Given the description of an element on the screen output the (x, y) to click on. 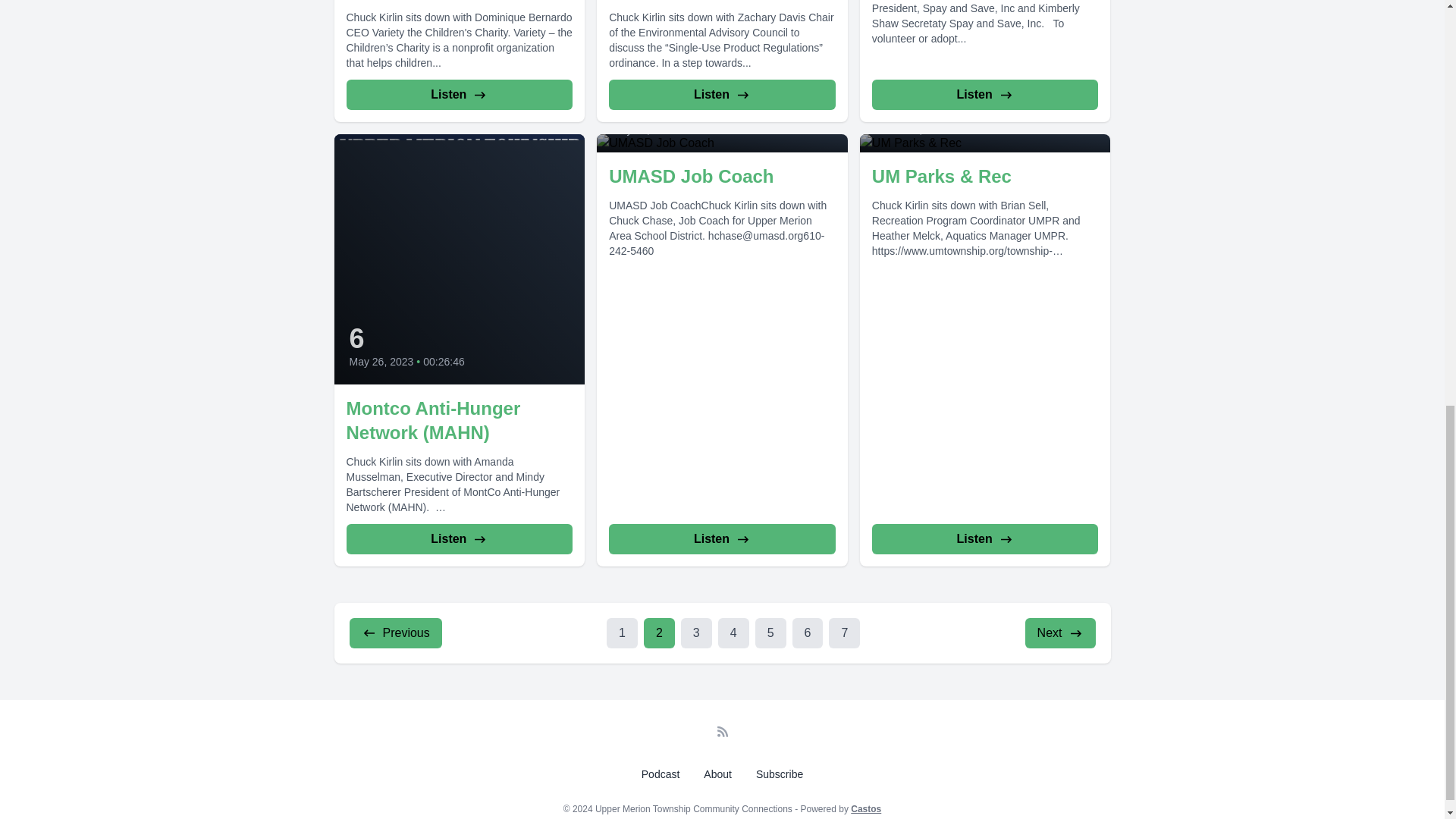
7 (844, 633)
Castos (865, 808)
1 (622, 633)
Powered by Castos (865, 808)
Subscribe (779, 773)
Podcast (659, 773)
5 (770, 633)
Next (1060, 633)
Previous (395, 633)
3 (696, 633)
About (717, 773)
6 (808, 633)
4 (733, 633)
